Given the description of an element on the screen output the (x, y) to click on. 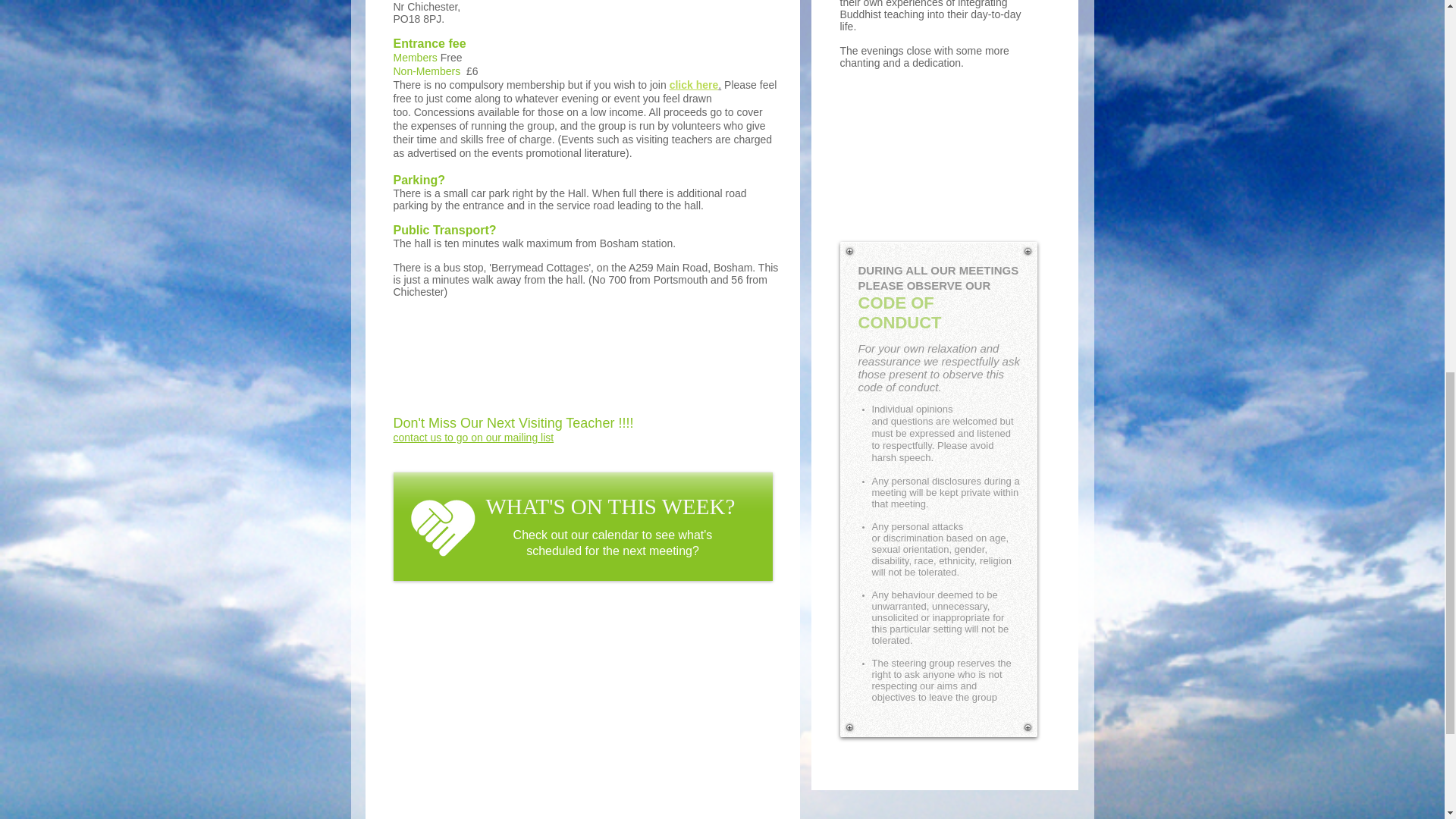
click here (694, 84)
contact us to go on our mailing list (473, 437)
WHAT'S ON THIS WEEK? (609, 506)
Member (411, 57)
